Given the description of an element on the screen output the (x, y) to click on. 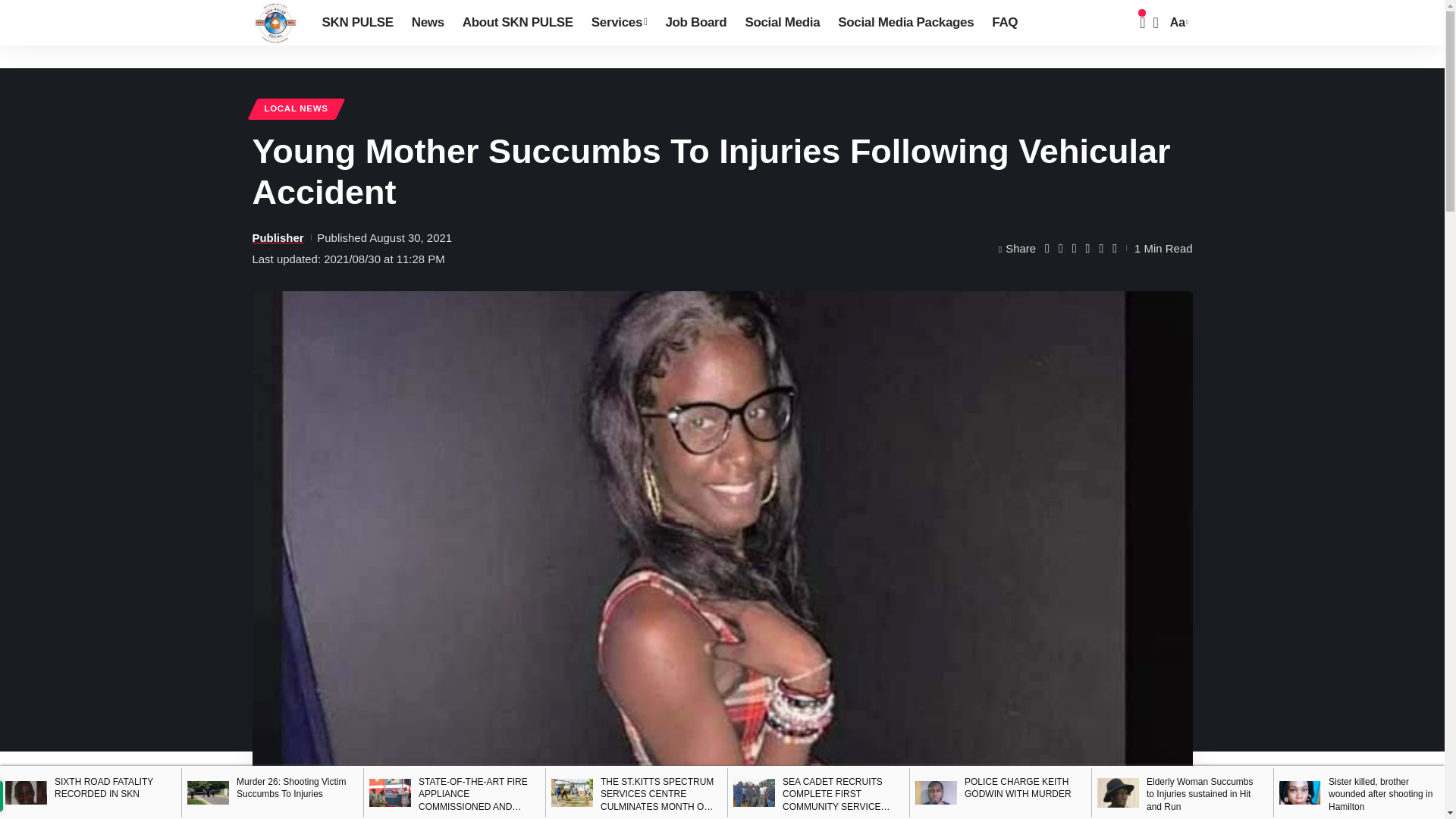
Services (619, 22)
SKN PULSE (357, 22)
SKN PULSE (274, 22)
Aa (1177, 22)
News (427, 22)
About SKN PULSE (517, 22)
FAQ (1004, 22)
Job Board (695, 22)
Social Media (781, 22)
Social Media Packages (905, 22)
